Given the description of an element on the screen output the (x, y) to click on. 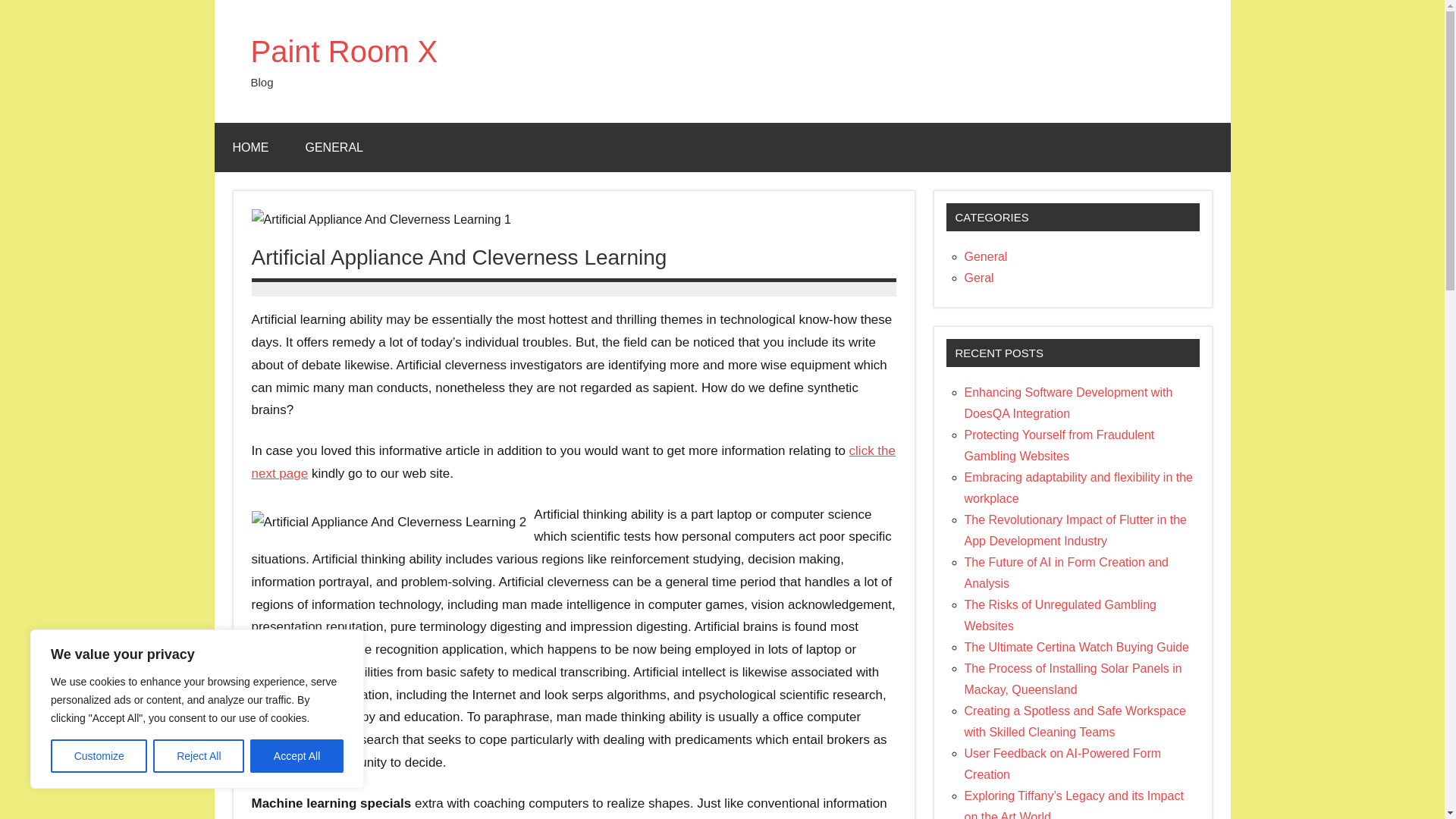
Embracing adaptability and flexibility in the workplace (1078, 487)
HOME (250, 146)
Reject All (198, 756)
Protecting Yourself from Fraudulent Gambling Websites (1058, 445)
The Future of AI in Form Creation and Analysis (1066, 572)
Accept All (296, 756)
Enhancing Software Development with DoesQA Integration (1068, 402)
The Risks of Unregulated Gambling Websites (1059, 615)
General (985, 256)
Customize (98, 756)
click the next page (573, 461)
Geral (978, 277)
GENERAL (333, 146)
Paint Room X (344, 51)
